Given the description of an element on the screen output the (x, y) to click on. 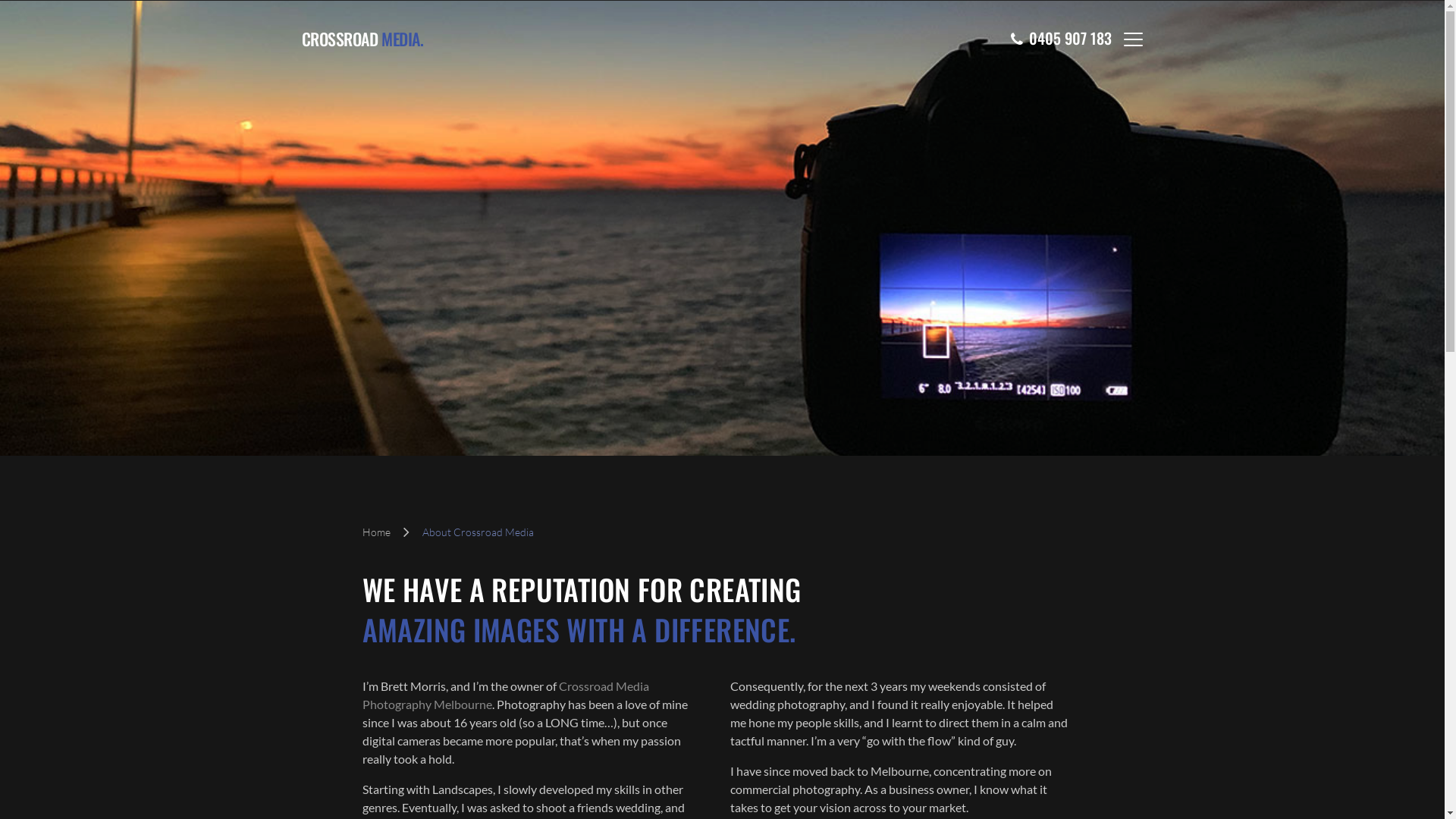
0405 907 183 Element type: text (1060, 38)
CROSSROAD MEDIA. Element type: text (362, 38)
Home Element type: text (376, 531)
Crossroad Media Photography Melbourne Element type: text (505, 694)
